Given the description of an element on the screen output the (x, y) to click on. 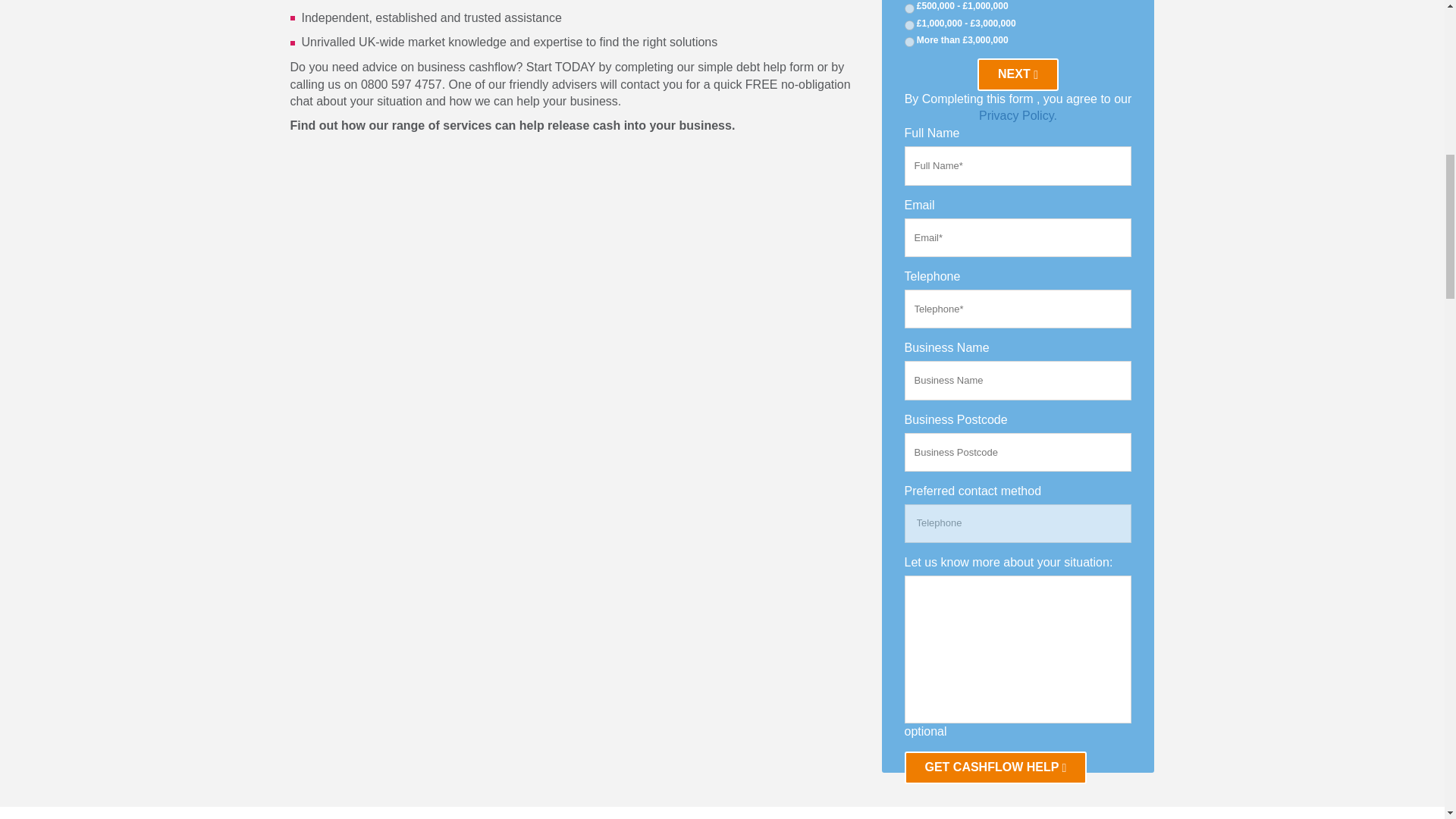
6 (909, 25)
7 (909, 41)
5 (909, 8)
